Given the description of an element on the screen output the (x, y) to click on. 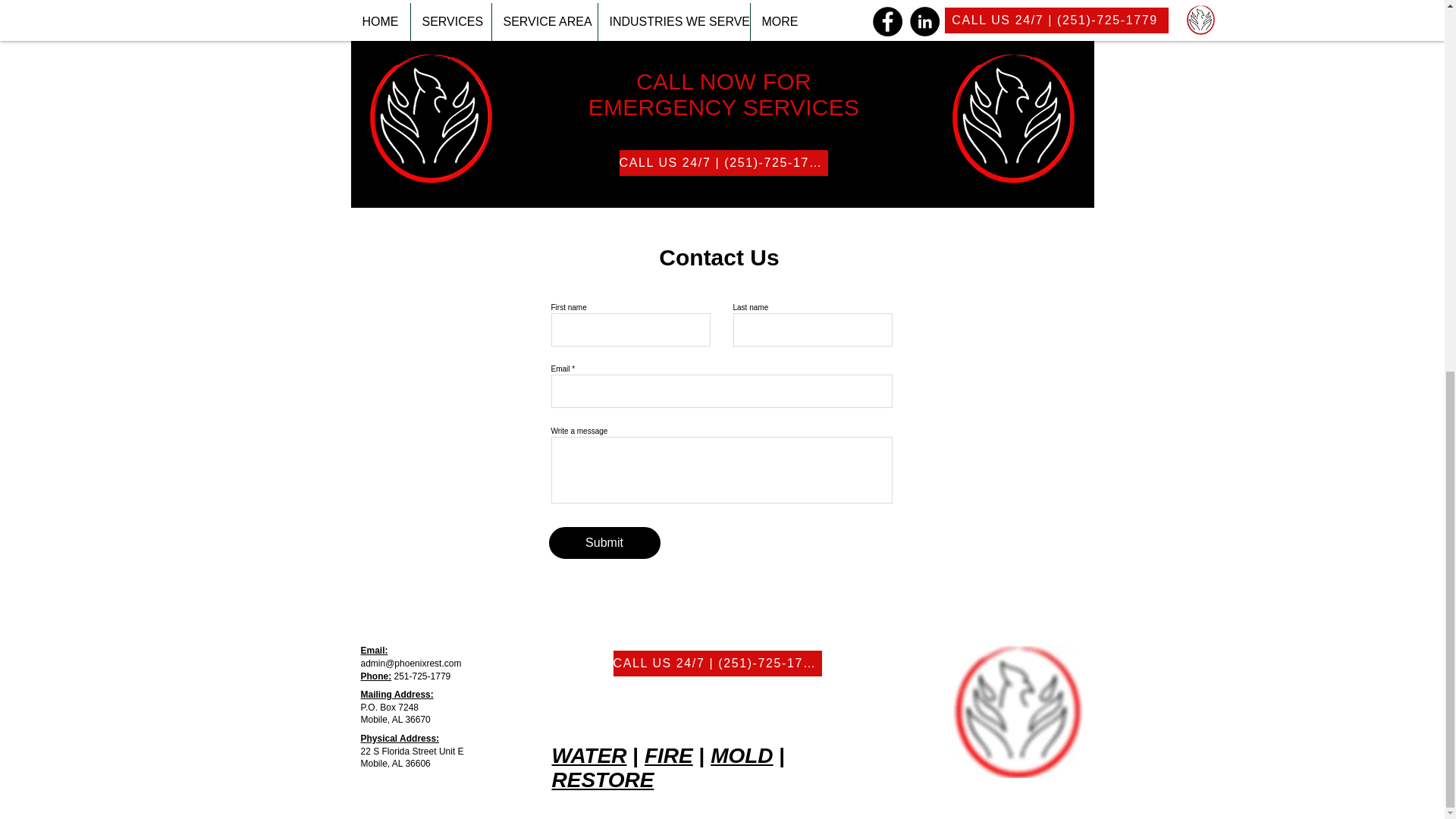
FIRE (669, 755)
MOLD (741, 755)
Phoenix Restoration Services (1016, 712)
WATER (589, 755)
Submit (604, 542)
